Given the description of an element on the screen output the (x, y) to click on. 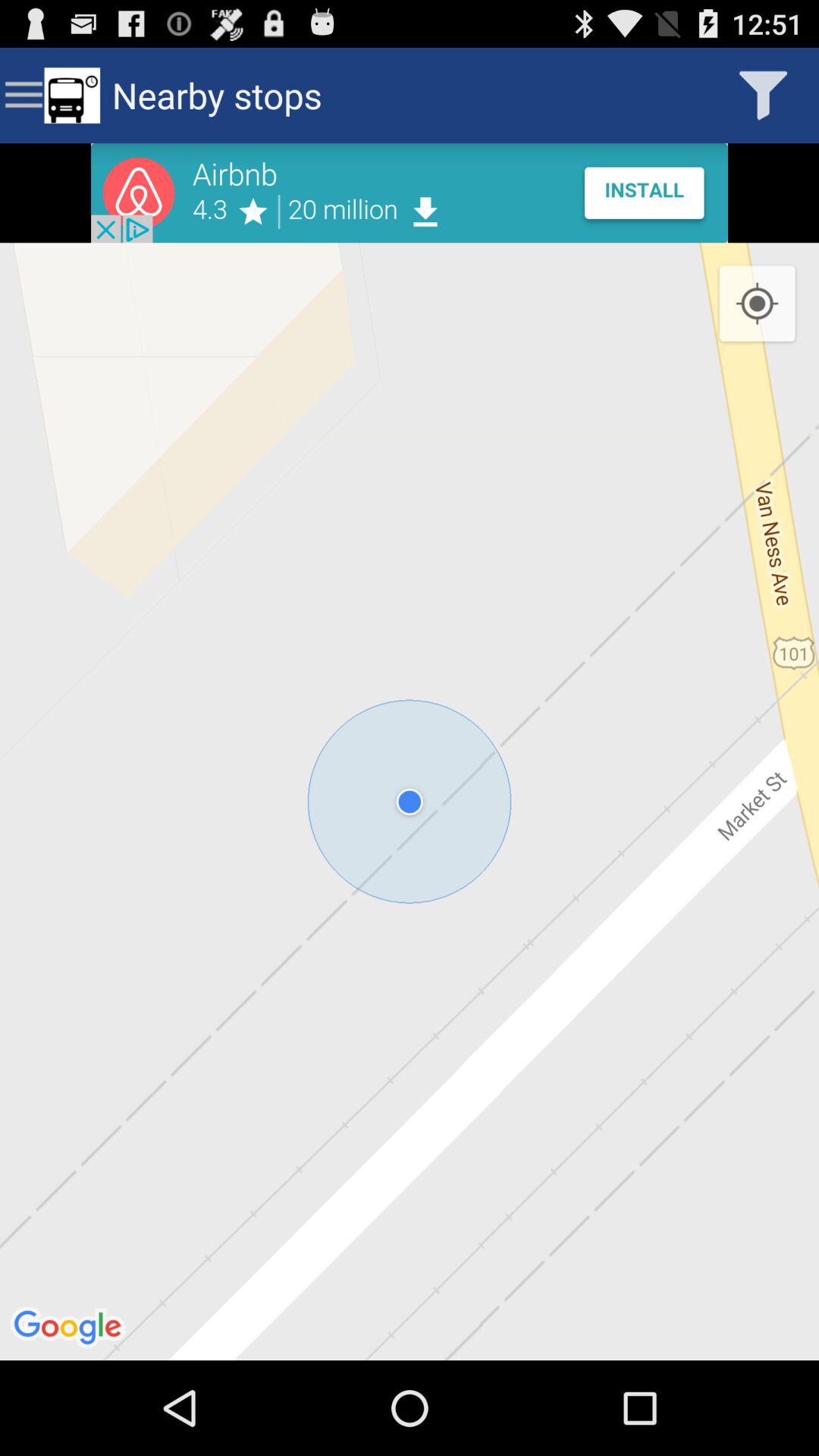
go to advertisement (409, 192)
